Given the description of an element on the screen output the (x, y) to click on. 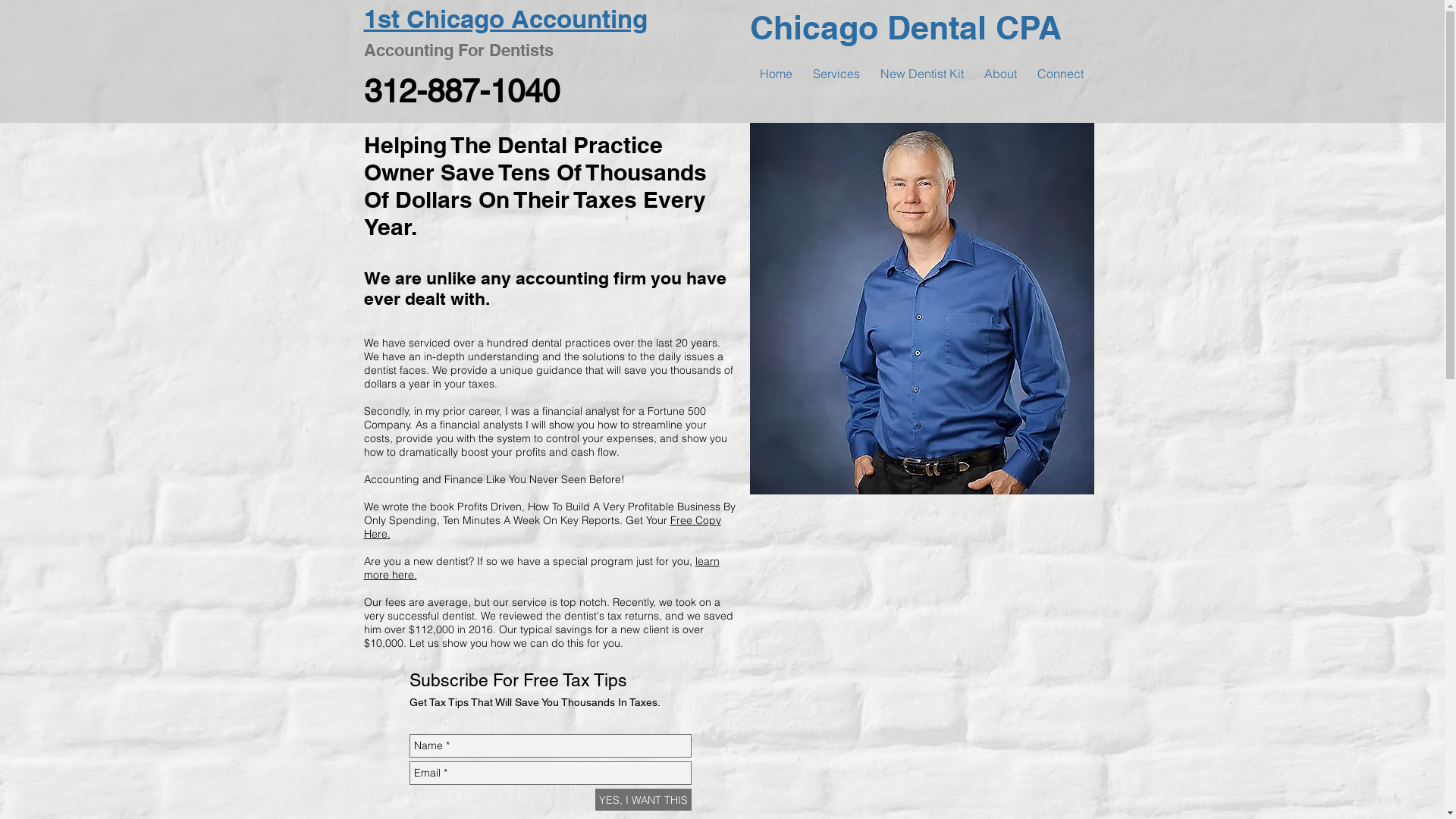
YES, I WANT THIS Element type: text (642, 799)
Connect Element type: text (1059, 73)
Services Element type: text (835, 73)
Free Copy Here. Element type: text (542, 526)
Chicago Dental CPA Element type: text (904, 27)
About Element type: text (999, 73)
Home Element type: text (775, 73)
New Dentist Kit Element type: text (922, 73)
learn more here. Element type: text (541, 567)
